Given the description of an element on the screen output the (x, y) to click on. 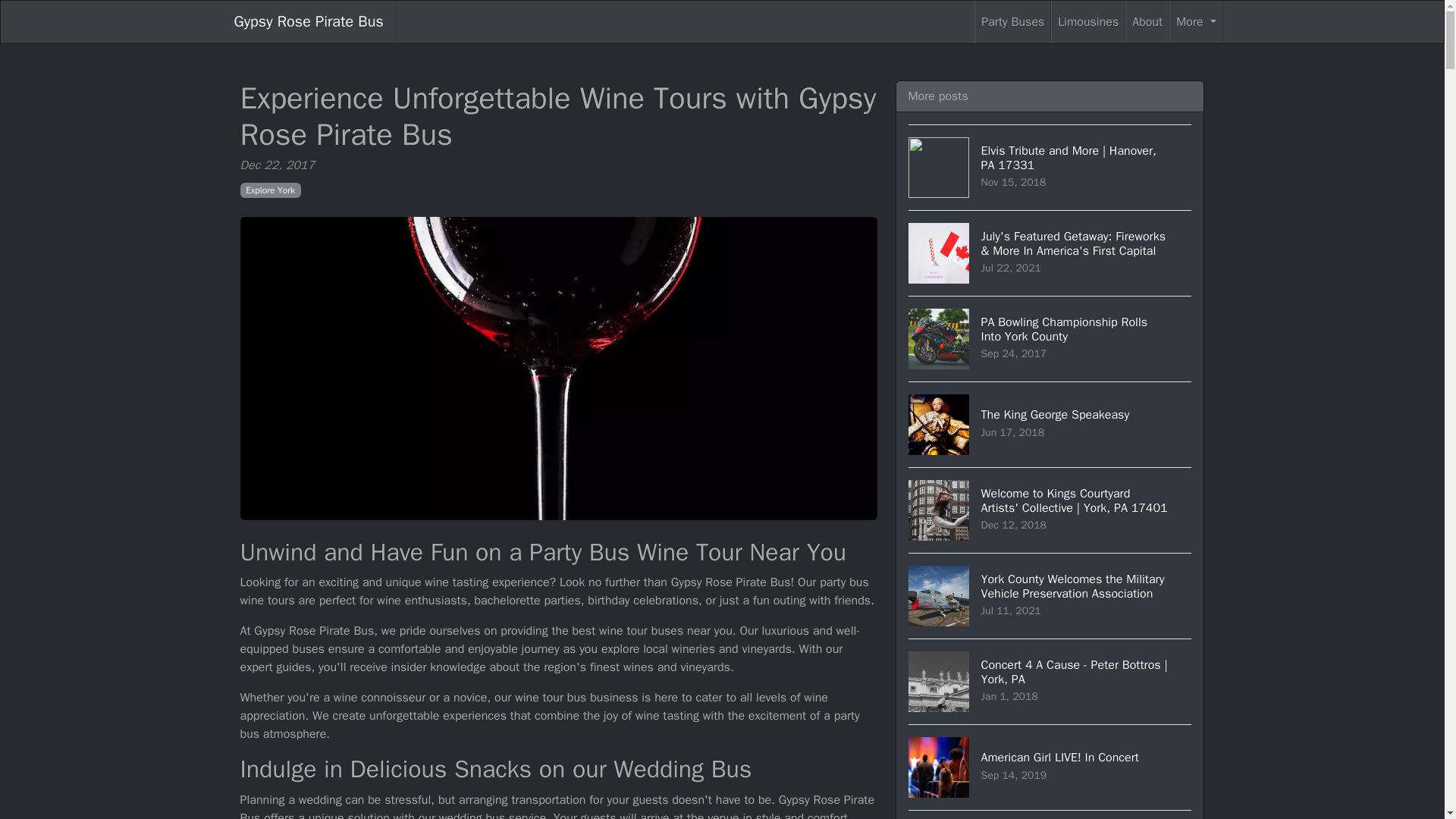
Gypsy Rose Pirate Bus (308, 21)
Limousines (1088, 21)
More (1196, 21)
Party Buses (1012, 21)
Explore York (269, 190)
About (1147, 21)
